Given the description of an element on the screen output the (x, y) to click on. 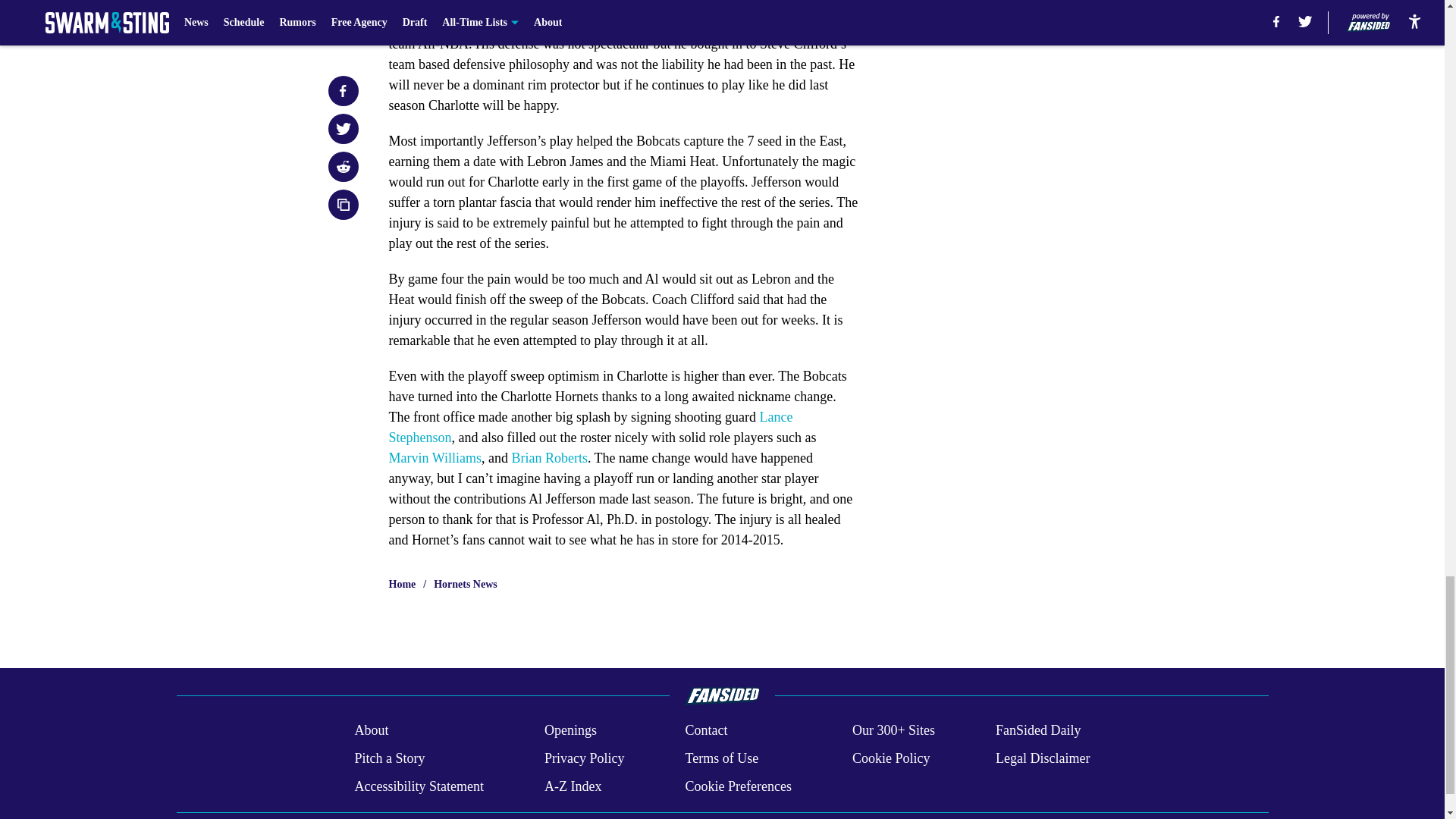
Pitch a Story (389, 758)
FanSided Daily (1038, 730)
Marvin Williams (434, 458)
Lance Stephenson (590, 427)
Home (401, 584)
Brian Roberts (549, 458)
Openings (570, 730)
About (370, 730)
Hornets News (465, 584)
Contact (705, 730)
